Given the description of an element on the screen output the (x, y) to click on. 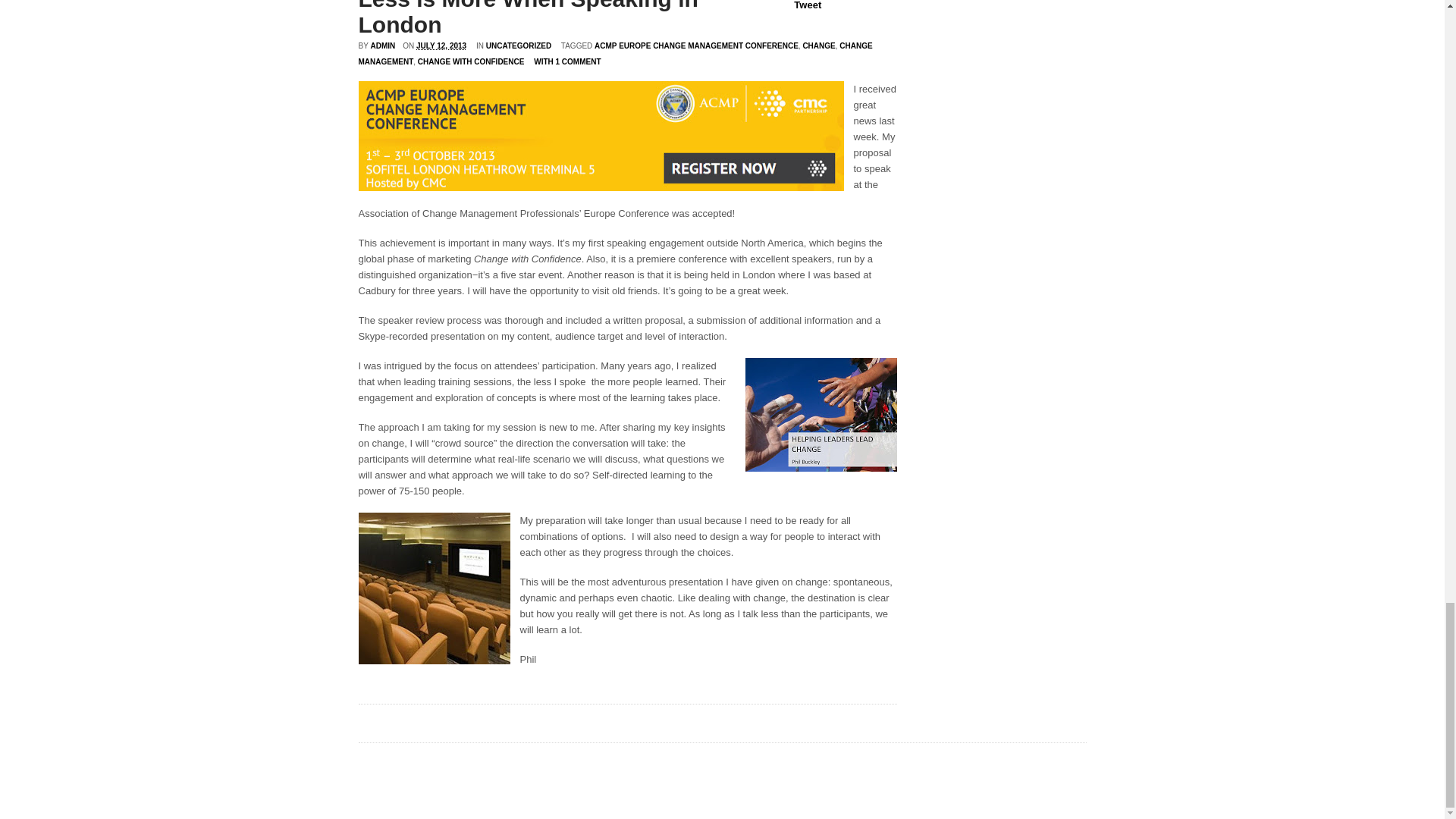
View all posts by admin (381, 45)
12:20 pm (440, 45)
Permalink to Less is More When Speaking in London (527, 18)
